Given the description of an element on the screen output the (x, y) to click on. 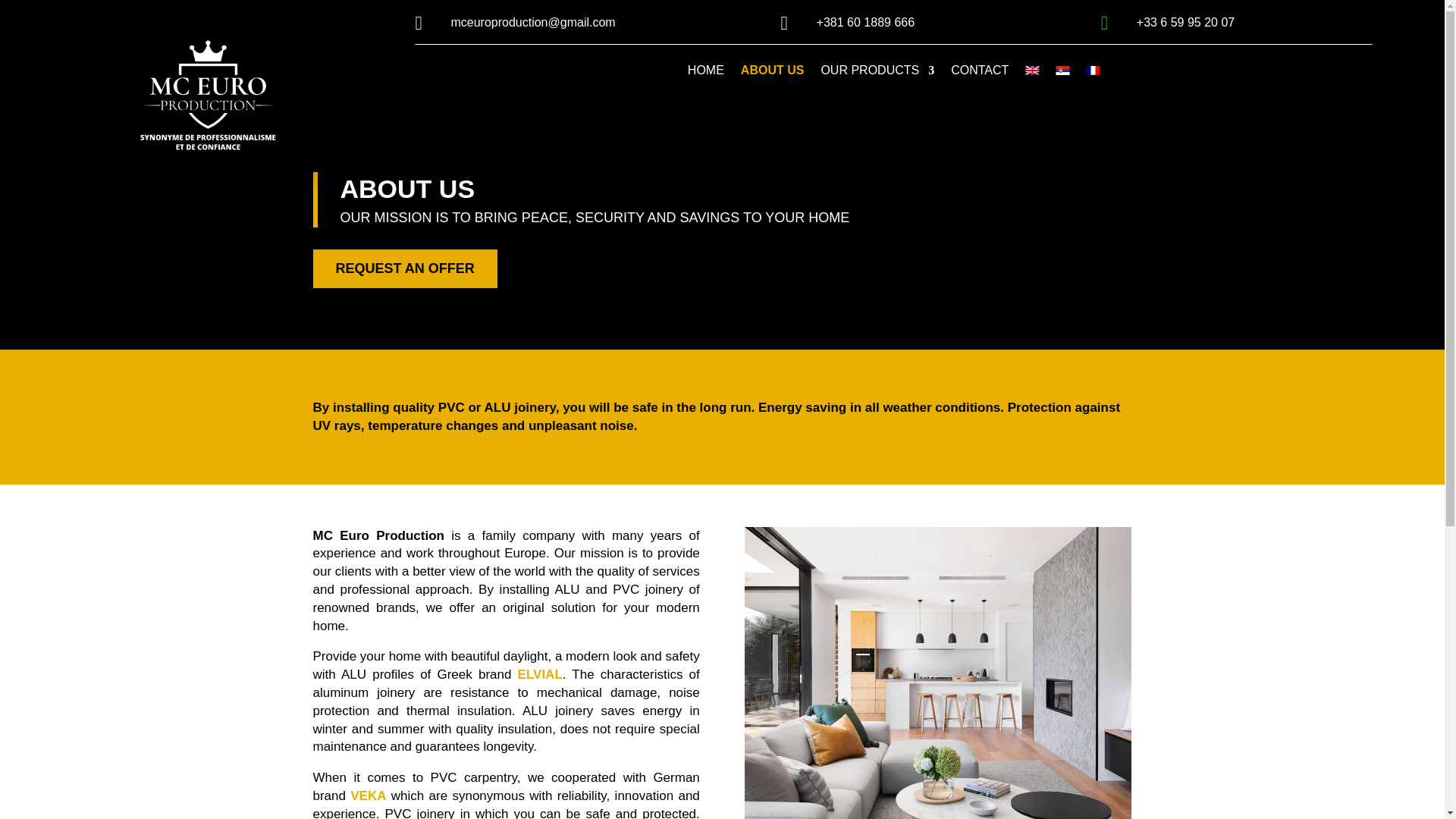
mc-euro-fr (207, 96)
landing-page-living-room-01-062866e9 (937, 673)
VEKA (367, 795)
OUR PRODUCTS (877, 73)
CONTACT (979, 73)
HOME (705, 73)
REQUEST AN OFFER (404, 268)
ABOUT US (773, 73)
